Given the description of an element on the screen output the (x, y) to click on. 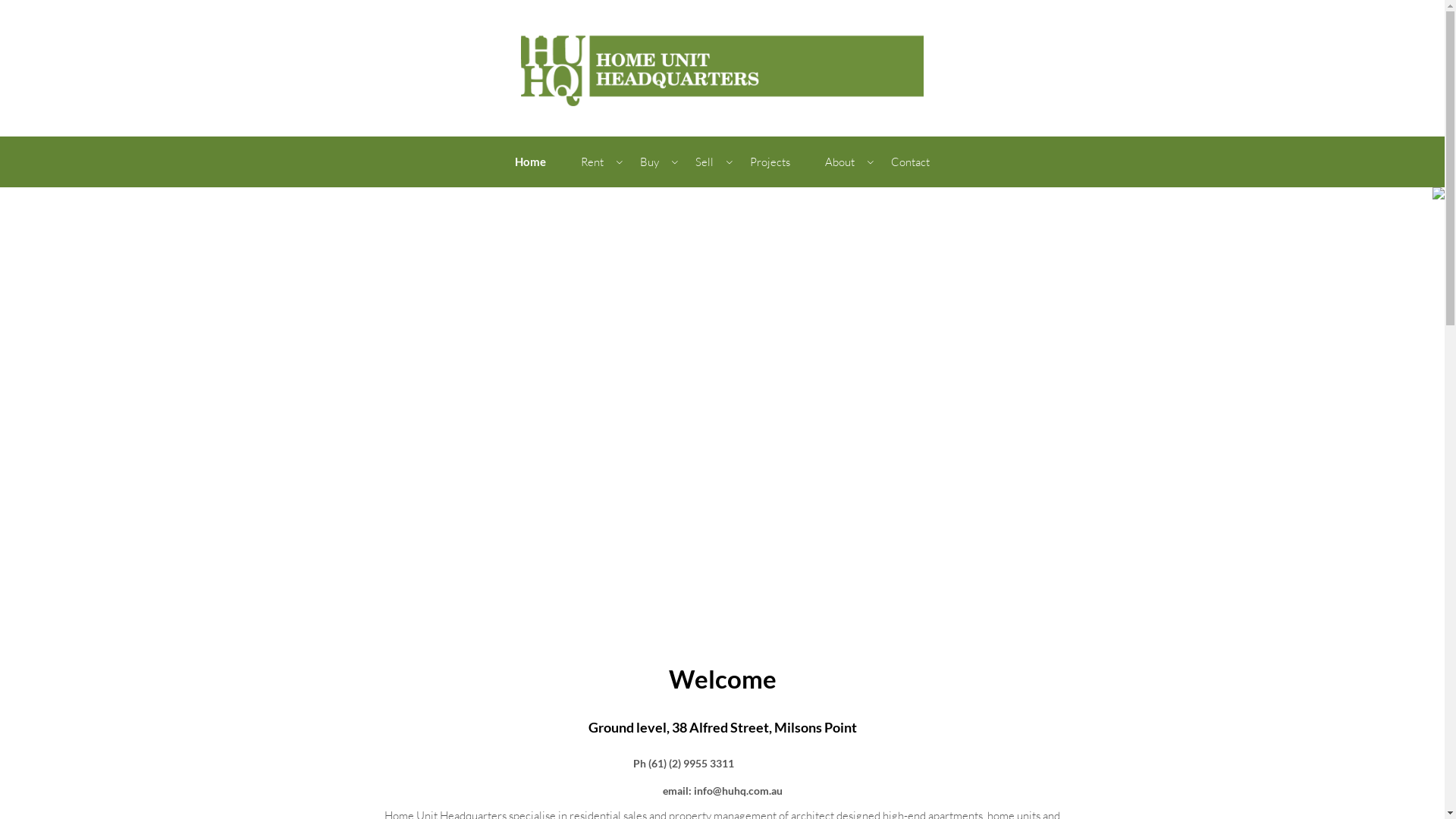
Sell Element type: text (704, 161)
Contact Element type: text (910, 161)
Projects Element type: text (769, 161)
Home Unit Headquarters Element type: hover (721, 66)
Rent Element type: text (592, 161)
About Element type: text (840, 161)
Buy Element type: text (649, 161)
Home Element type: text (530, 161)
